Given the description of an element on the screen output the (x, y) to click on. 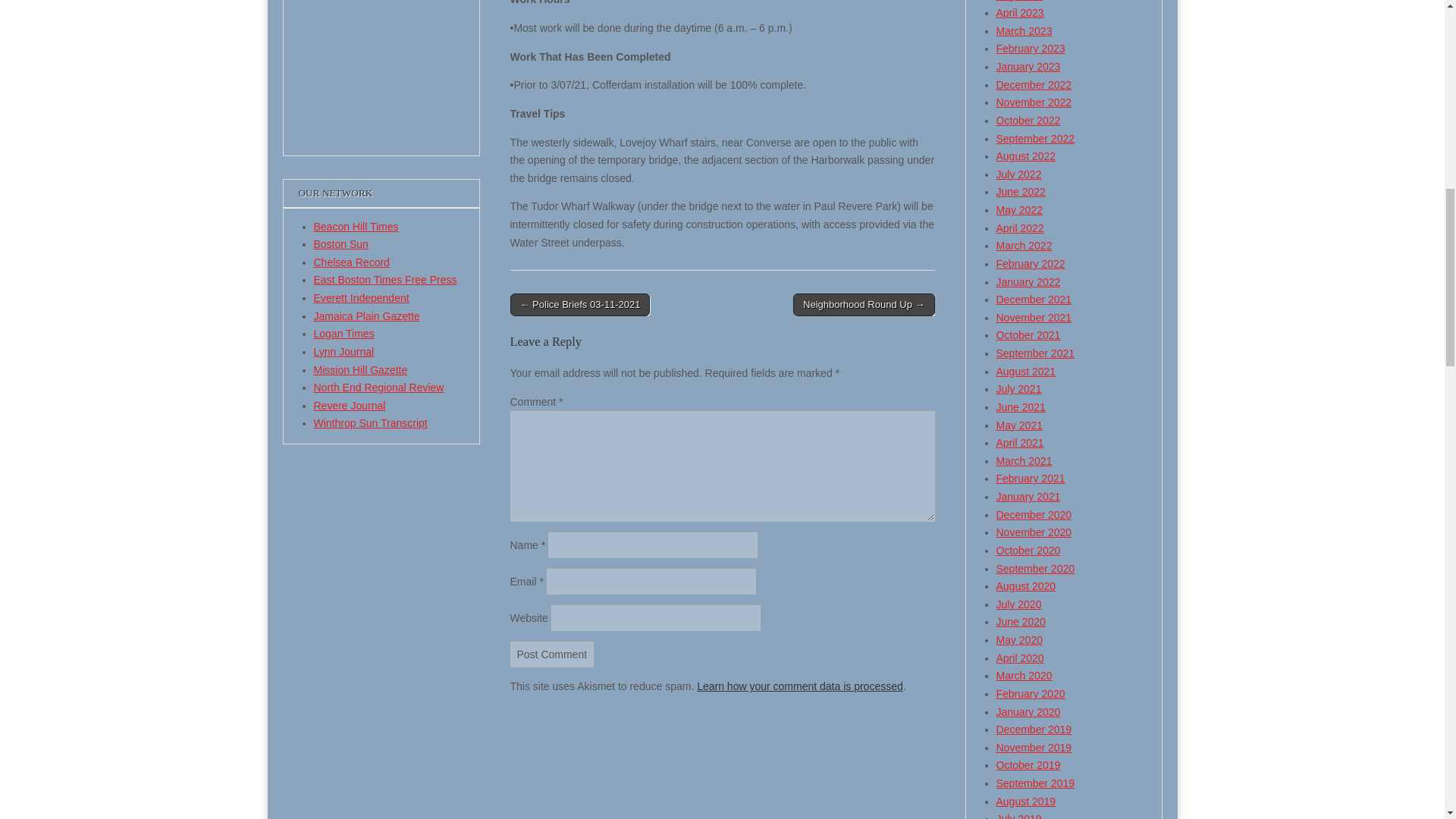
Jamaica Plain Gazette (367, 316)
Post Comment (551, 654)
Everett Independent (361, 297)
Chelsea Record (352, 262)
Winthrop Sun Transcript (371, 422)
Boston Sun (341, 244)
North End Regional Review (379, 387)
Lynn Journal (344, 351)
Logan Times (344, 333)
Mission Hill Gazette (360, 369)
Revere Journal (349, 405)
East Boston Times Free Press (385, 279)
Learn how your comment data is processed (799, 686)
Post Comment (551, 654)
Beacon Hill Times (356, 226)
